Given the description of an element on the screen output the (x, y) to click on. 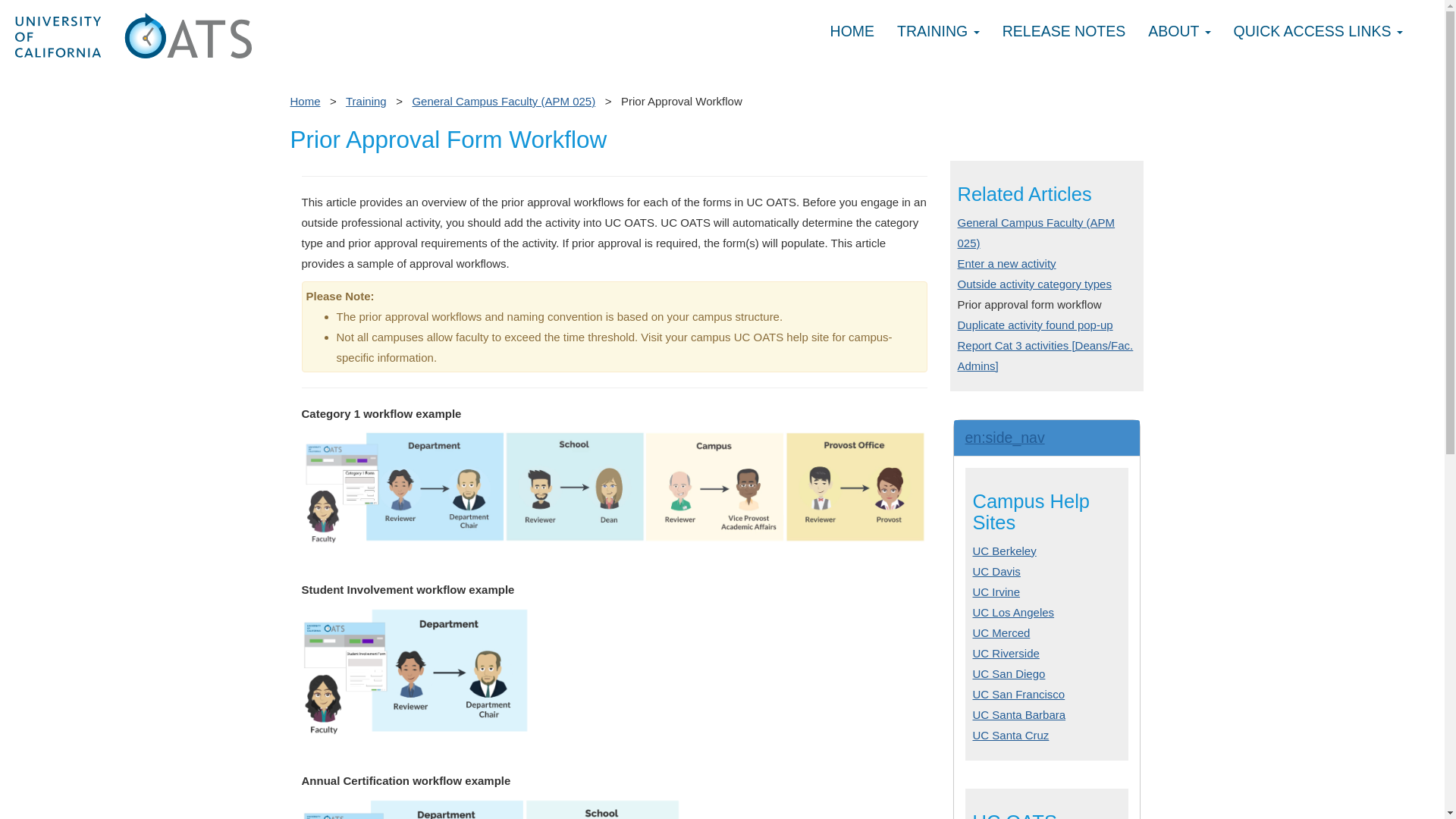
UC Davis (996, 571)
UC Berkeley (1003, 550)
Training (366, 101)
TRAINING (938, 31)
Outside activity category types (1033, 283)
Duplicate activity found pop-up (1034, 324)
RELEASE NOTES (1064, 31)
ABOUT (1179, 31)
HOME (852, 31)
UC Irvine (996, 591)
